Given the description of an element on the screen output the (x, y) to click on. 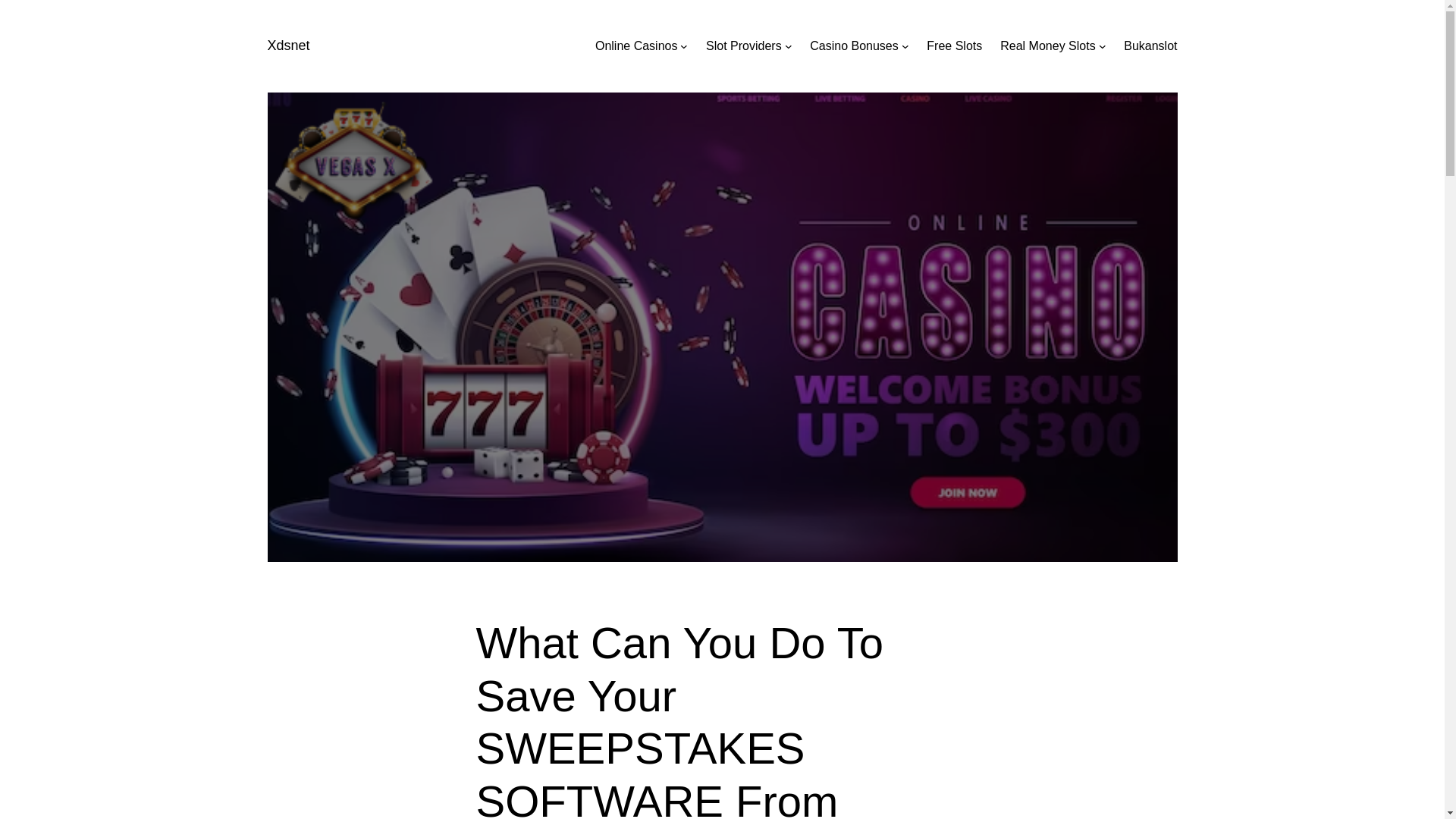
Bukanslot (1150, 46)
Online Casinos (636, 46)
Xdsnet (287, 45)
Casino Bonuses (853, 46)
Real Money Slots (1047, 46)
Free Slots (953, 46)
Slot Providers (743, 46)
